Given the description of an element on the screen output the (x, y) to click on. 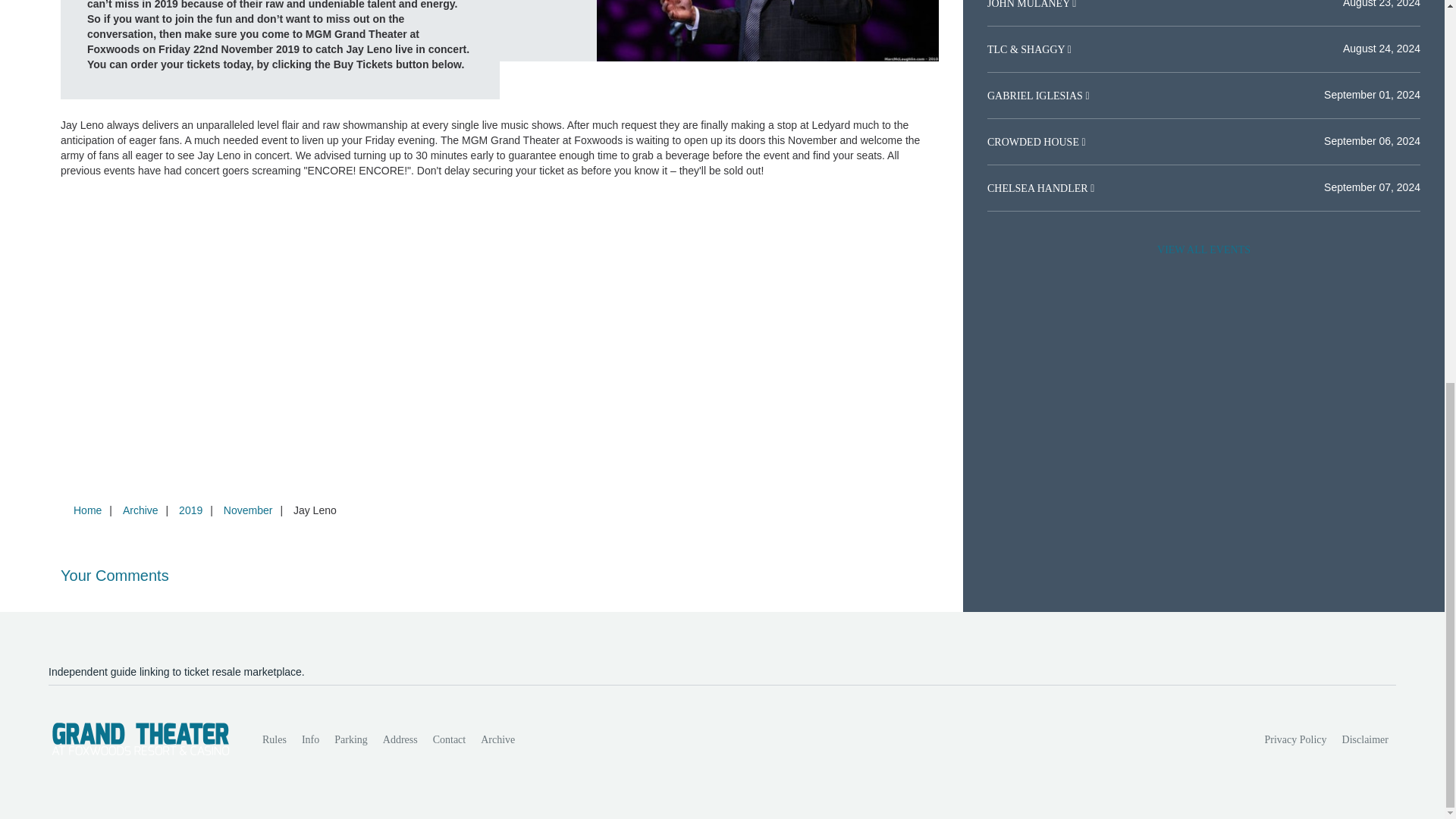
GABRIEL IGLESIAS (1035, 95)
2019 (190, 510)
Jay Leno at MGM Grand Theater at Foxwoods (767, 30)
Address (400, 739)
Home (87, 510)
Disclaimer (1365, 739)
JOHN MULANEY (1029, 4)
November (248, 510)
Privacy Policy (1296, 739)
CROWDED HOUSE (1034, 142)
